Given the description of an element on the screen output the (x, y) to click on. 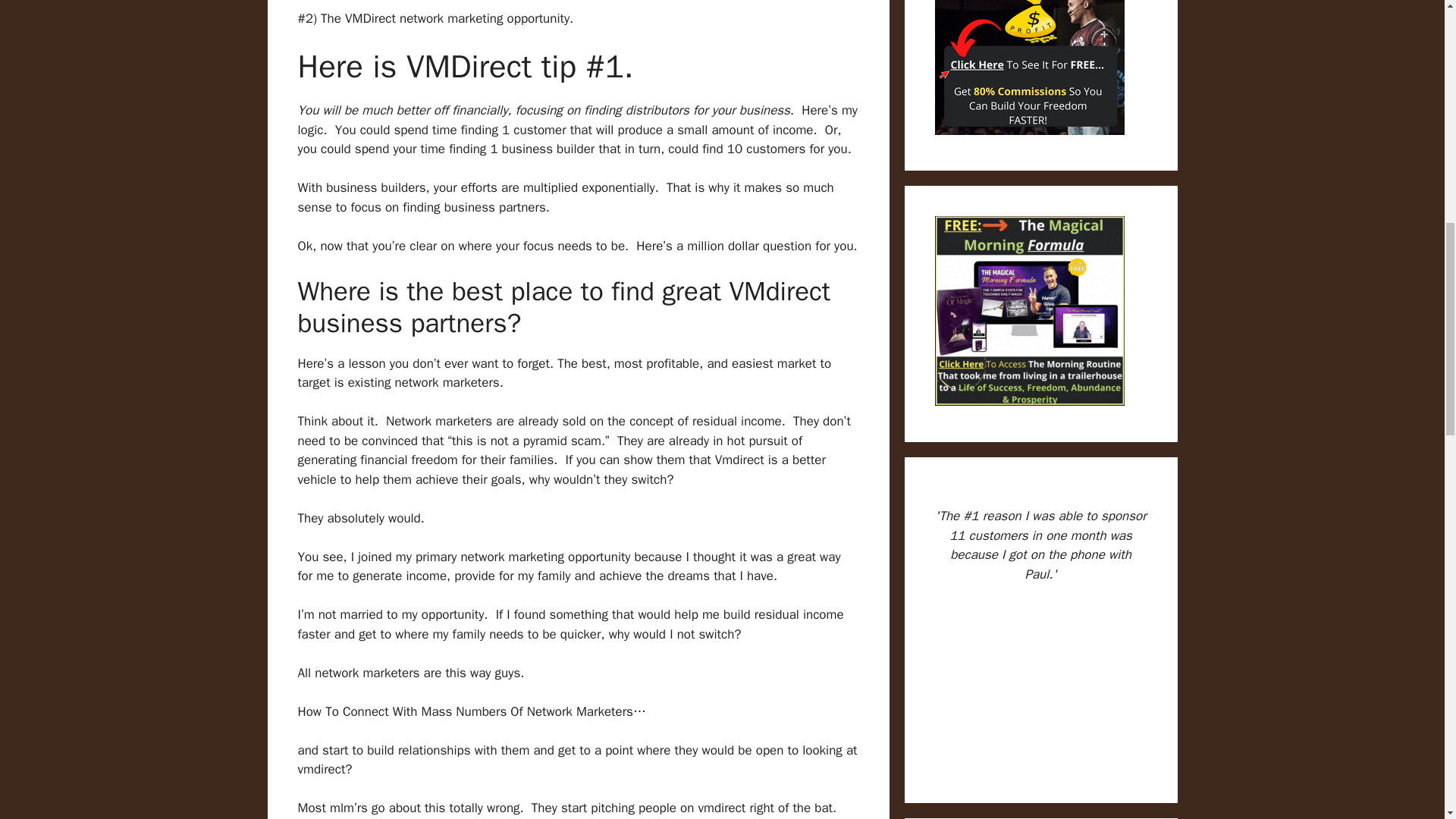
YouTube video player (1040, 685)
Scroll back to top (1406, 720)
